Given the description of an element on the screen output the (x, y) to click on. 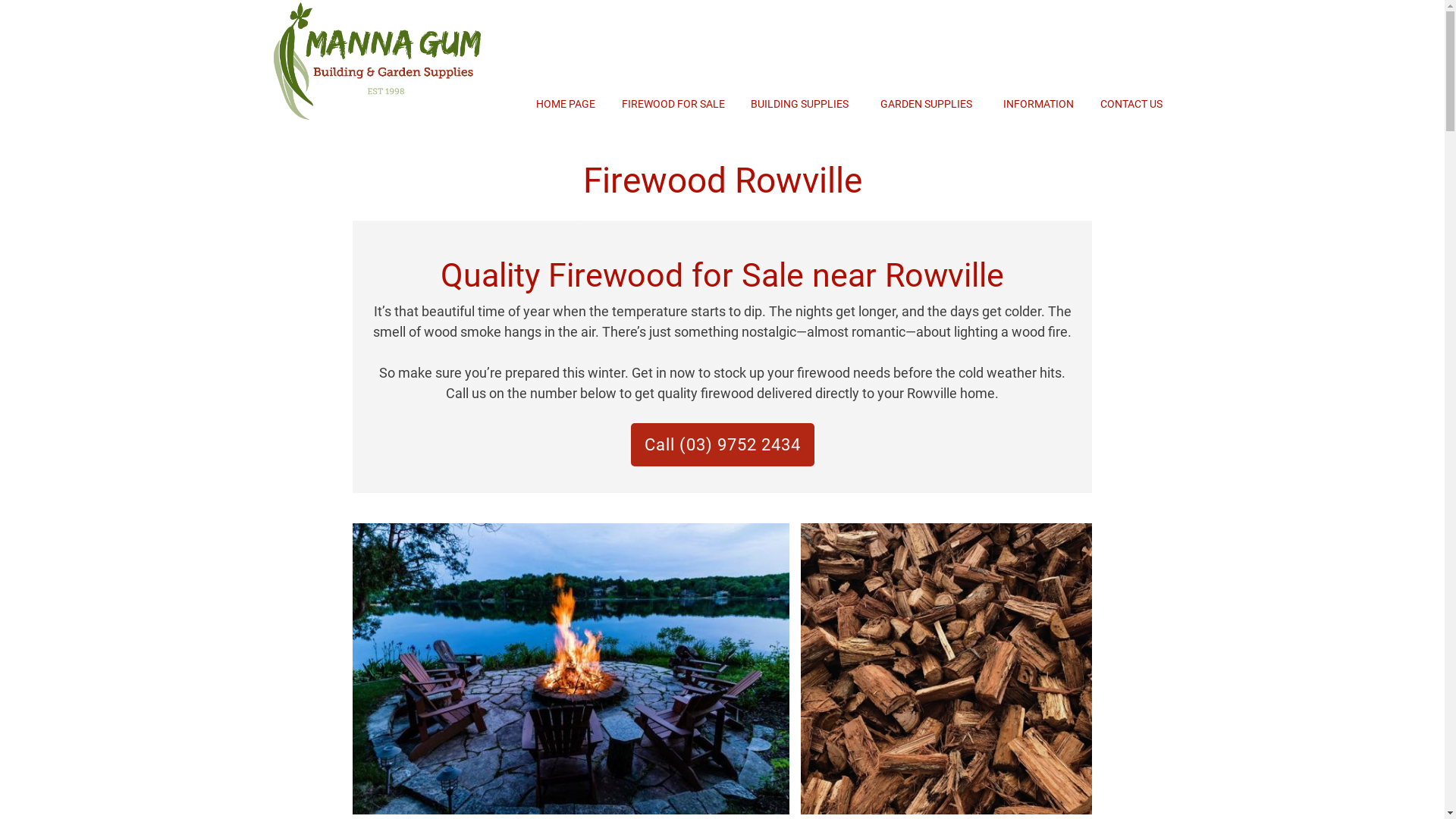
BUILDING SUPPLIES Element type: text (799, 103)
GARDEN SUPPLIES Element type: text (925, 103)
Firewood Rowville Element type: hover (946, 668)
INFORMATION Element type: text (1038, 103)
CONTACT US Element type: text (1130, 103)
HOME PAGE Element type: text (565, 103)
Firewood Rowville Firepit Element type: hover (570, 668)
FIREWOOD FOR SALE Element type: text (672, 103)
Call (03) 9752 2434 Element type: text (722, 445)
